Given the description of an element on the screen output the (x, y) to click on. 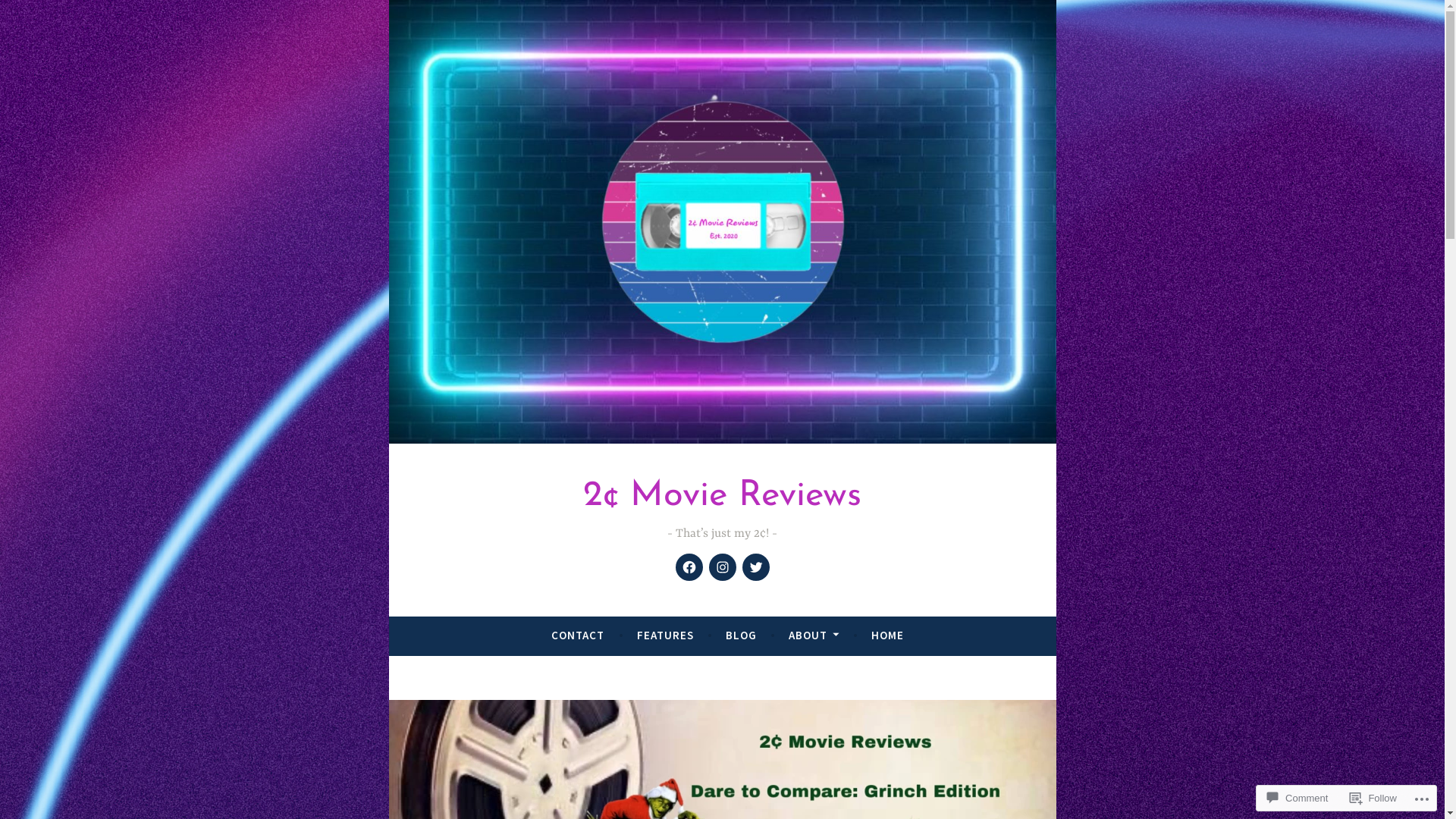
FEATURES Element type: text (665, 635)
BLOG Element type: text (740, 635)
Comment Element type: text (1297, 797)
HOME Element type: text (887, 635)
Follow Element type: text (1372, 797)
ABOUT Element type: text (813, 635)
CONTACT Element type: text (577, 635)
